Given the description of an element on the screen output the (x, y) to click on. 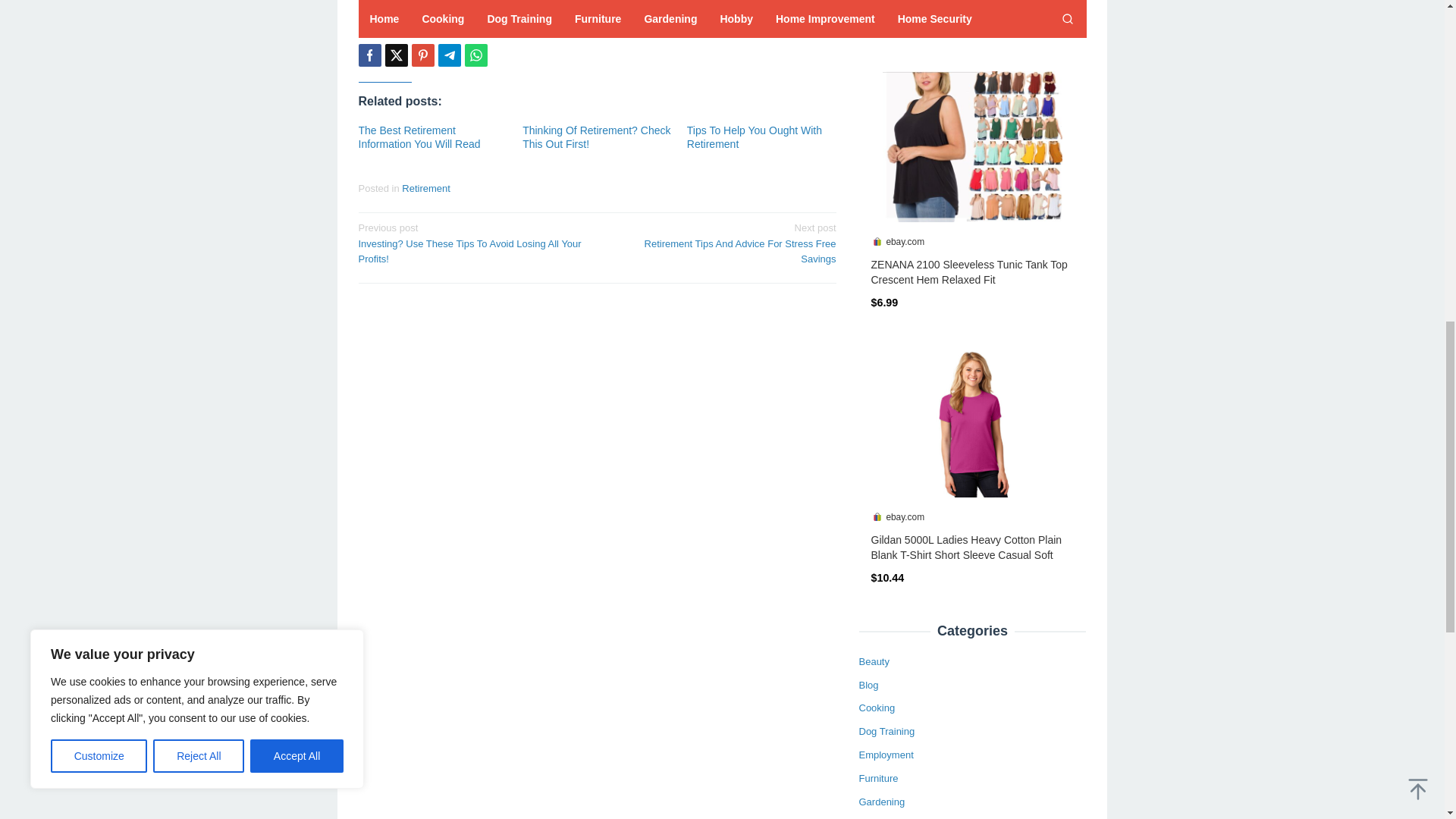
Tips To Help You Ought With Retirement (754, 136)
Tweet this (396, 55)
The Best Retirement Information You Will Read (419, 136)
Permalink to: Thinking Of Retirement? Check This Out First! (595, 136)
Share this (369, 55)
Whatsapp (475, 55)
Pin this (421, 55)
Retirement (425, 188)
Permalink to: The Best Retirement Information You Will Read (419, 136)
Permalink to: Tips To Help You Ought With Retirement (754, 136)
